Given the description of an element on the screen output the (x, y) to click on. 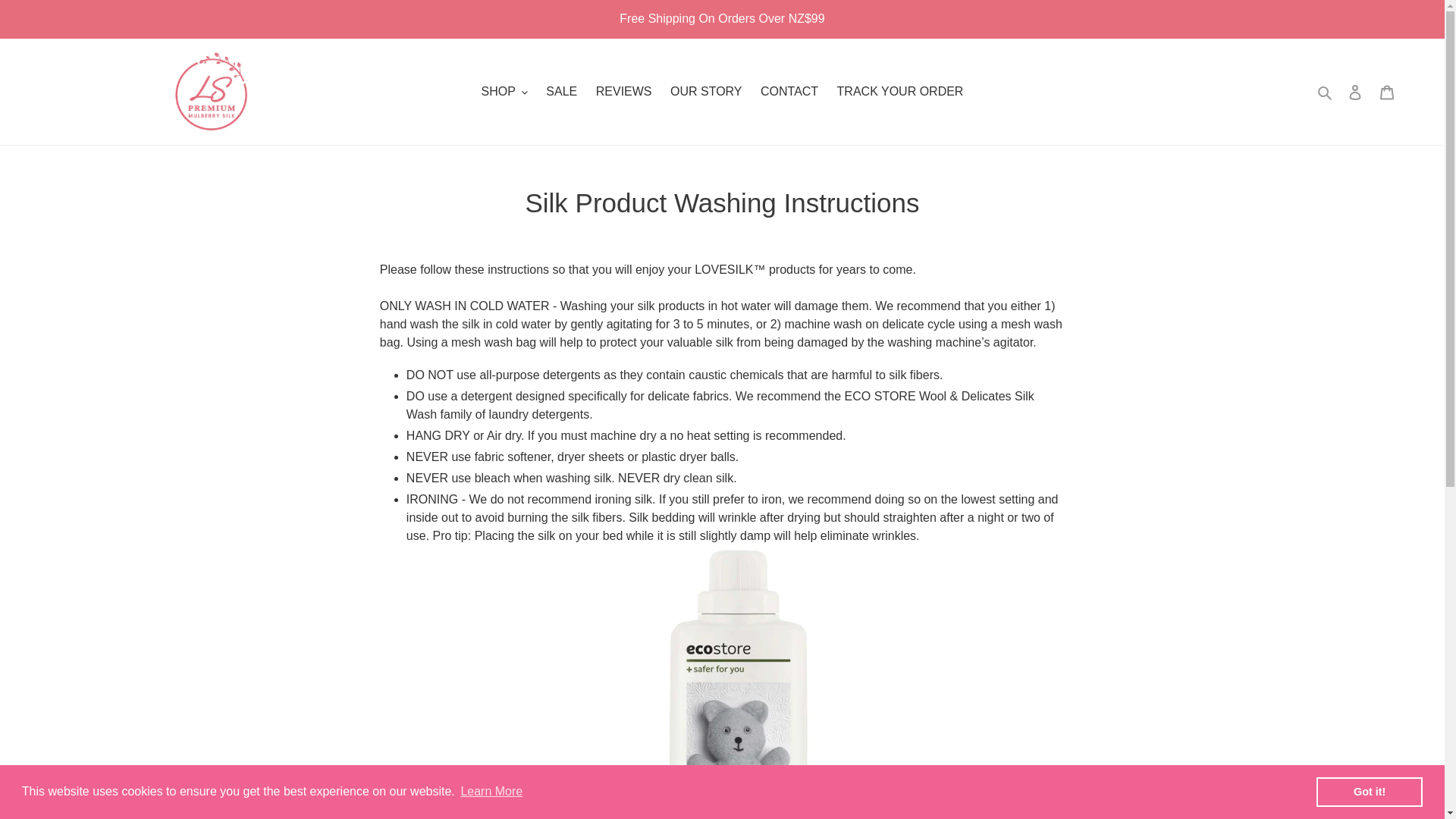
SHOP (504, 91)
Learn More (491, 791)
Got it! (1369, 791)
